Given the description of an element on the screen output the (x, y) to click on. 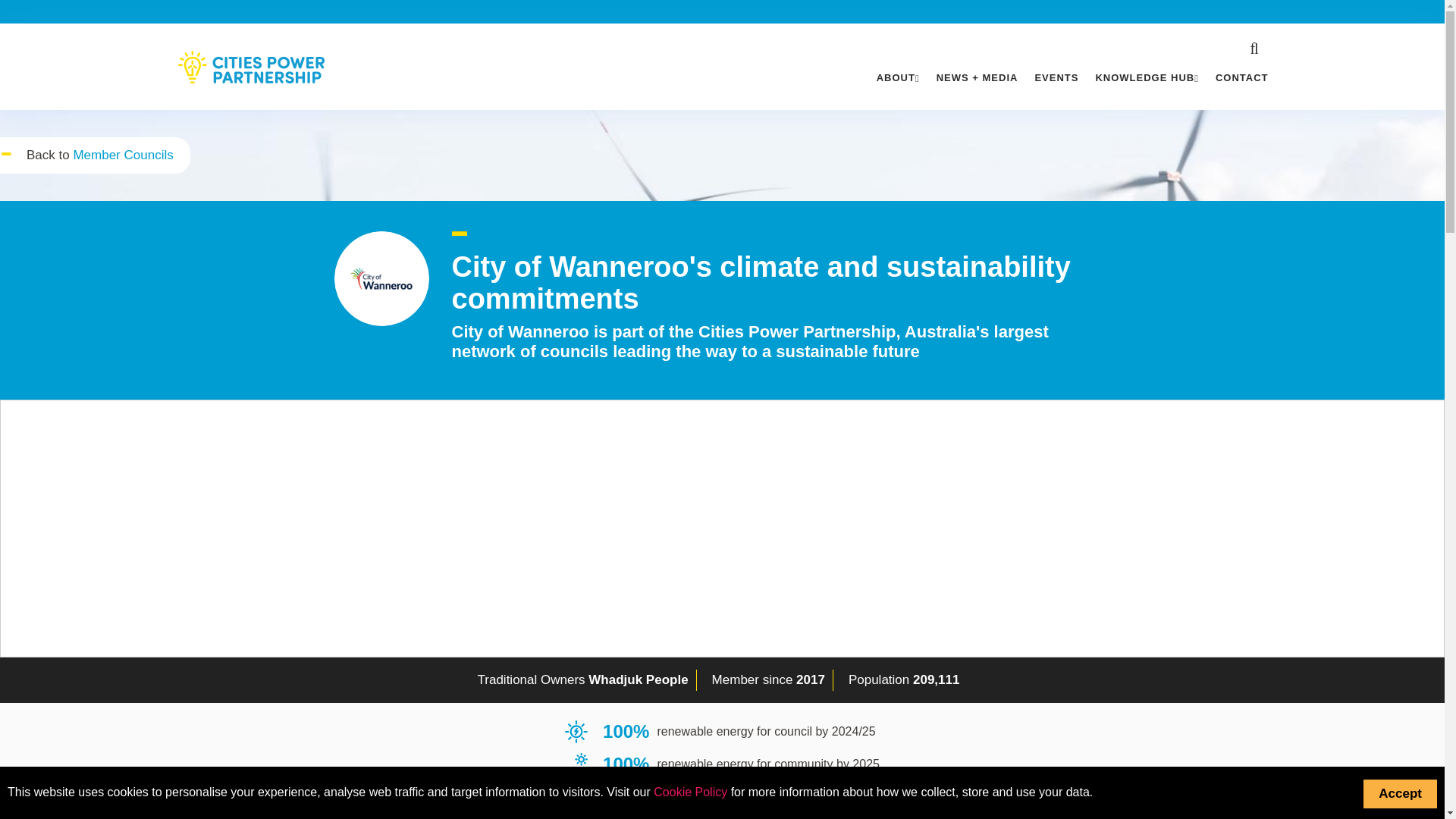
Cookie Policy (689, 791)
Member Councils (122, 155)
KNOWLEDGE HUB (1146, 73)
CONTACT (1241, 73)
EVENTS (1055, 73)
Back to Member Councils (122, 155)
ABOUT (898, 73)
